Given the description of an element on the screen output the (x, y) to click on. 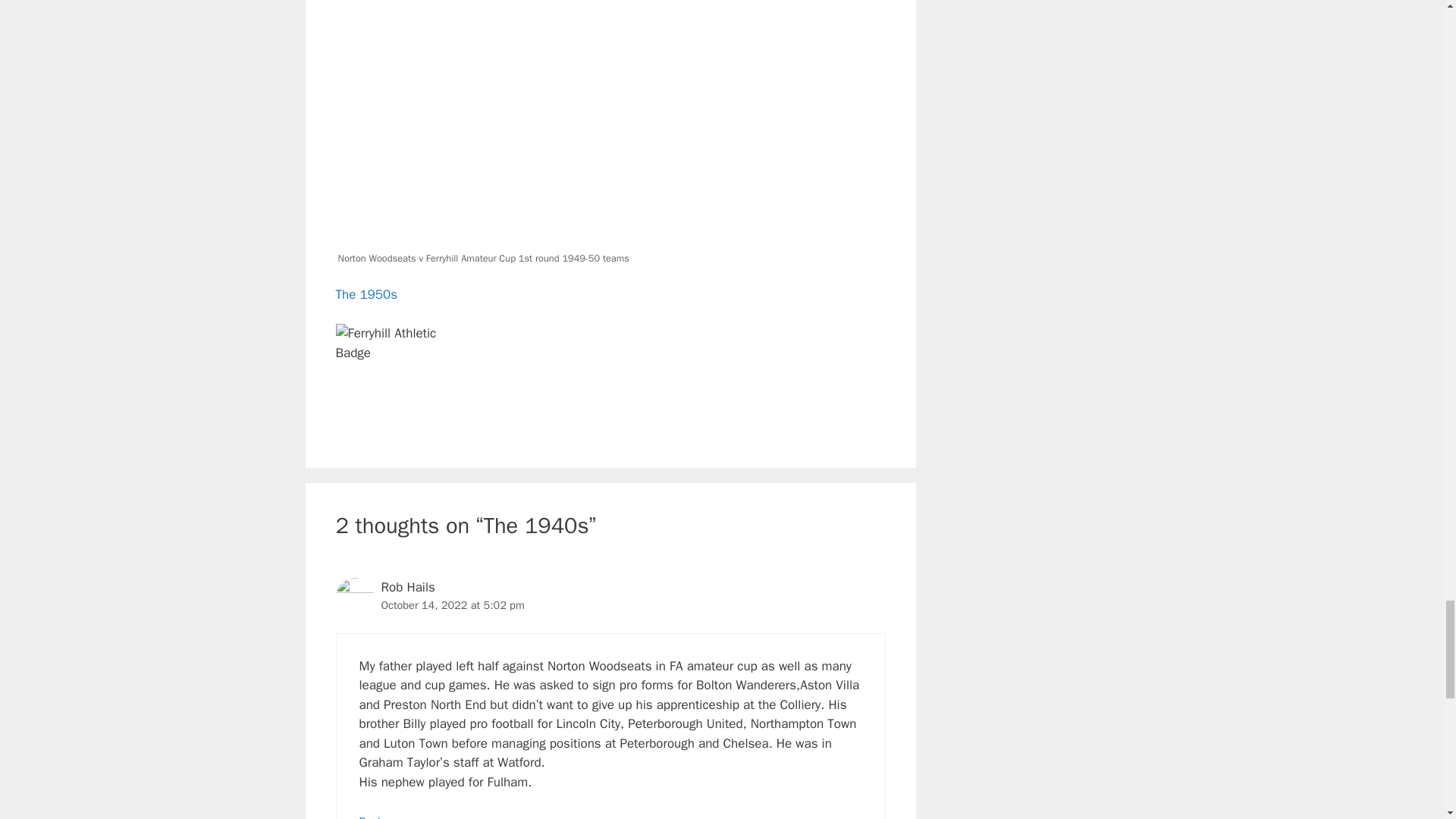
The 1950s (365, 294)
Reply (372, 816)
October 14, 2022 at 5:02 pm (452, 604)
